Given the description of an element on the screen output the (x, y) to click on. 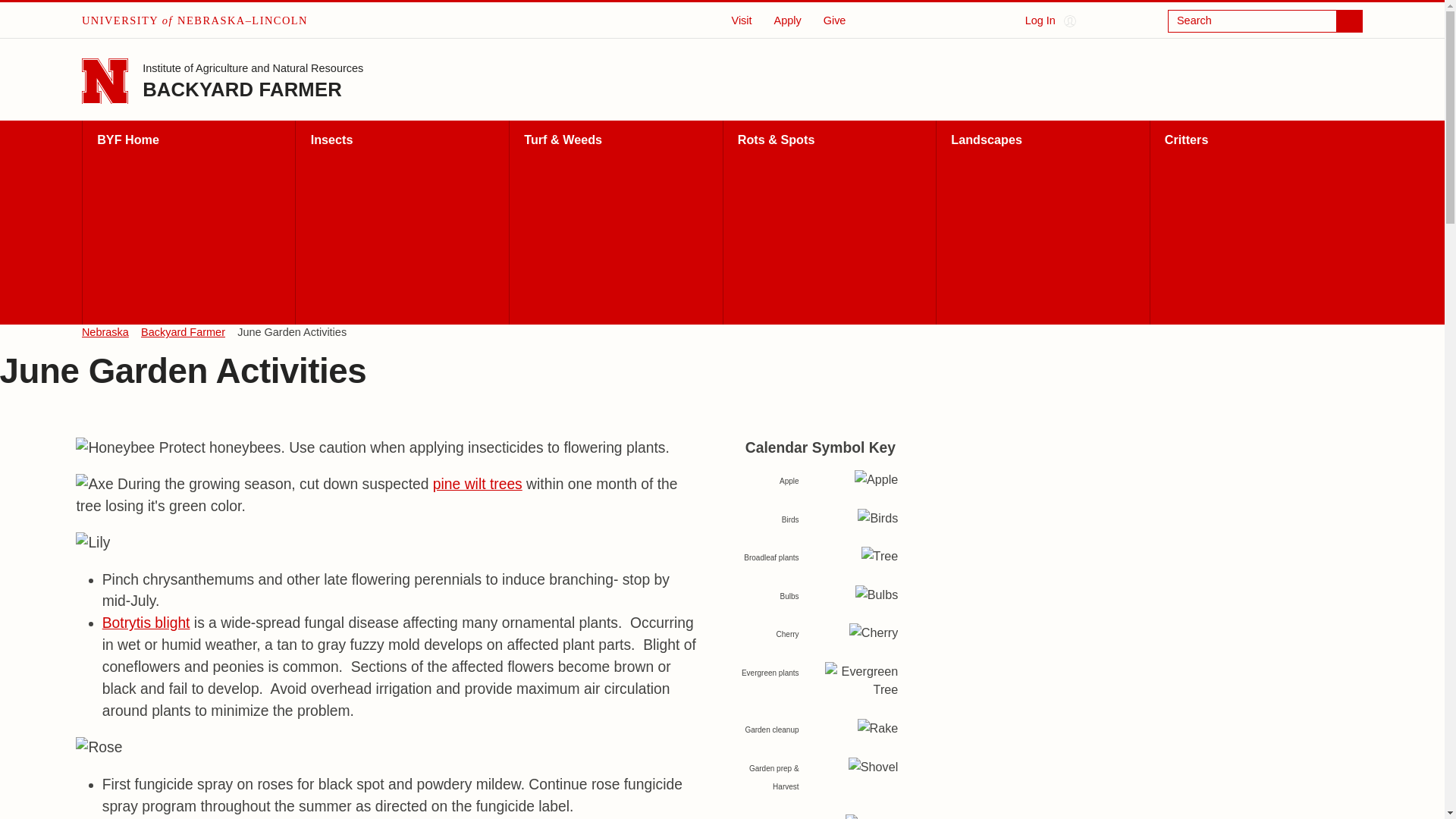
Insects (401, 222)
Log In (1050, 21)
BACKYARD FARMER (242, 88)
Landscapes (1043, 222)
Critters (1256, 222)
Search (1264, 21)
Botrytis blight (145, 622)
Visit (741, 20)
Backyard Farmer (183, 332)
Institute of Agriculture and Natural Resources (252, 69)
Apply (787, 20)
Skip to main content (13, 10)
BYF Home (188, 222)
Nebraska (105, 332)
Give (834, 20)
